Given the description of an element on the screen output the (x, y) to click on. 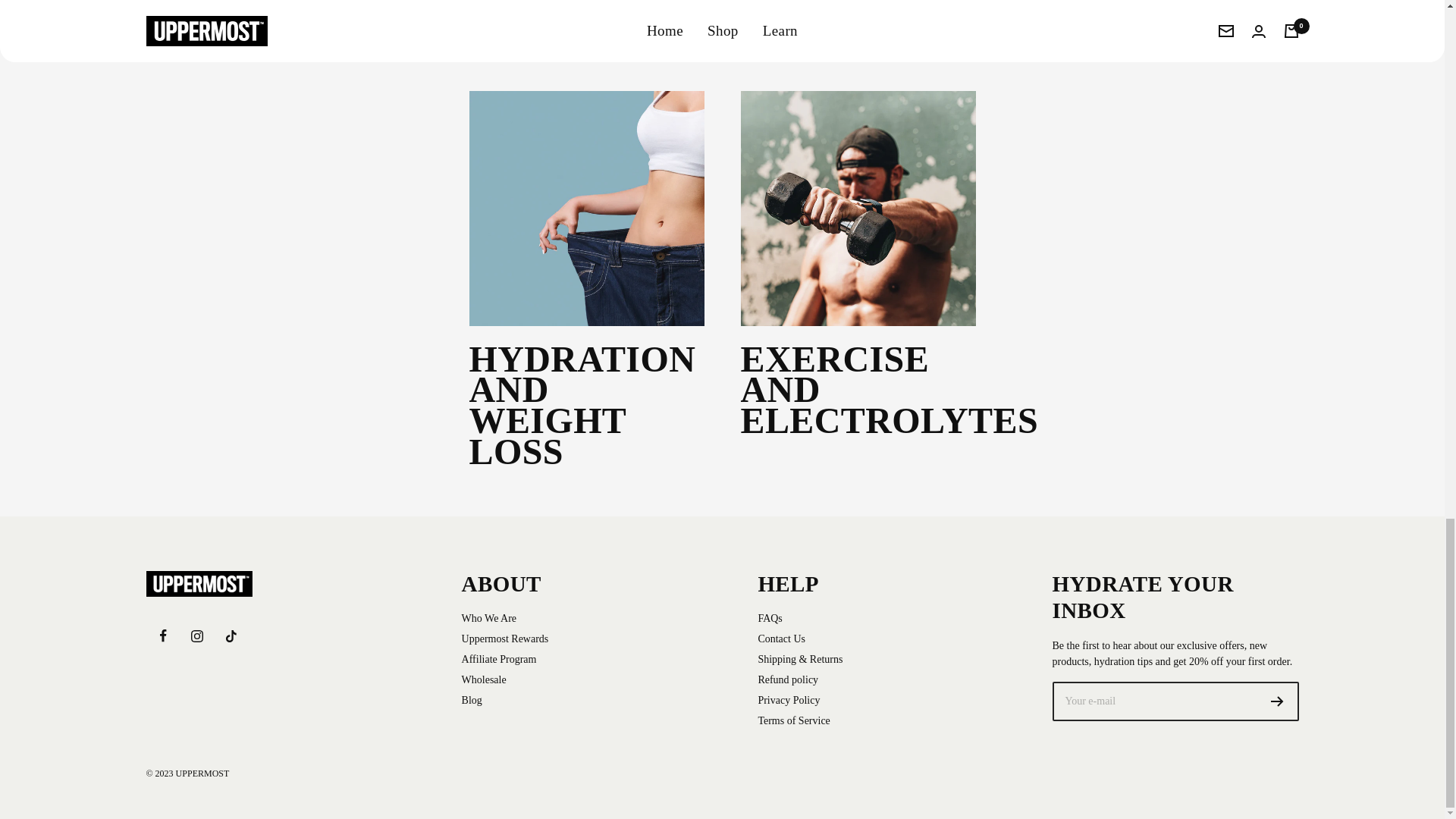
Contact Us (781, 638)
Wholesale (483, 679)
Affiliate Program (499, 659)
Blog (488, 618)
Register (471, 700)
FAQs (1277, 701)
HYDRATION AND WEIGHT LOSS (769, 618)
